Given the description of an element on the screen output the (x, y) to click on. 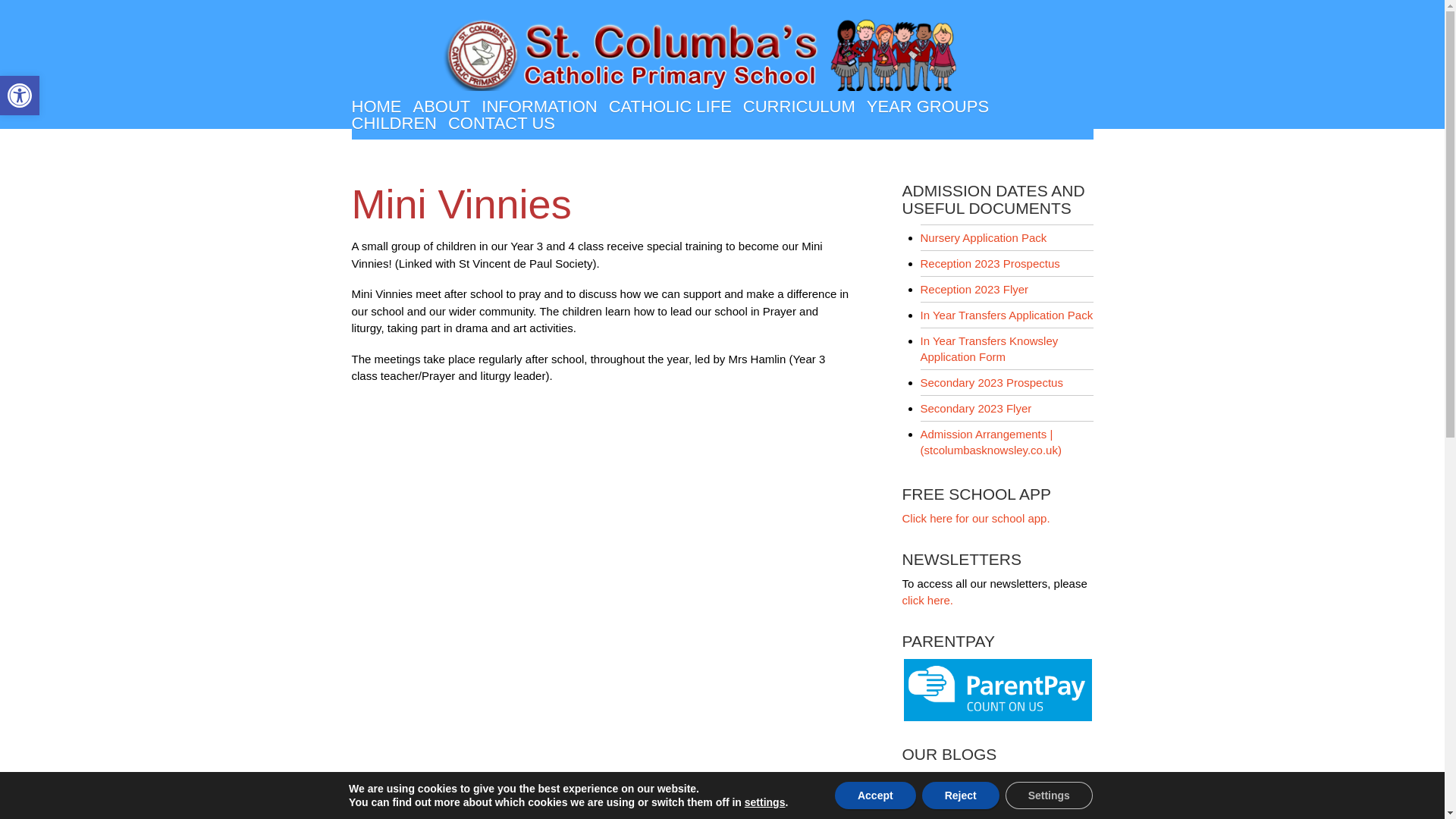
HOME (19, 95)
Accessibility Tools (376, 106)
Accessibility Tools (19, 95)
ABOUT (19, 95)
INFORMATION (441, 106)
